Given the description of an element on the screen output the (x, y) to click on. 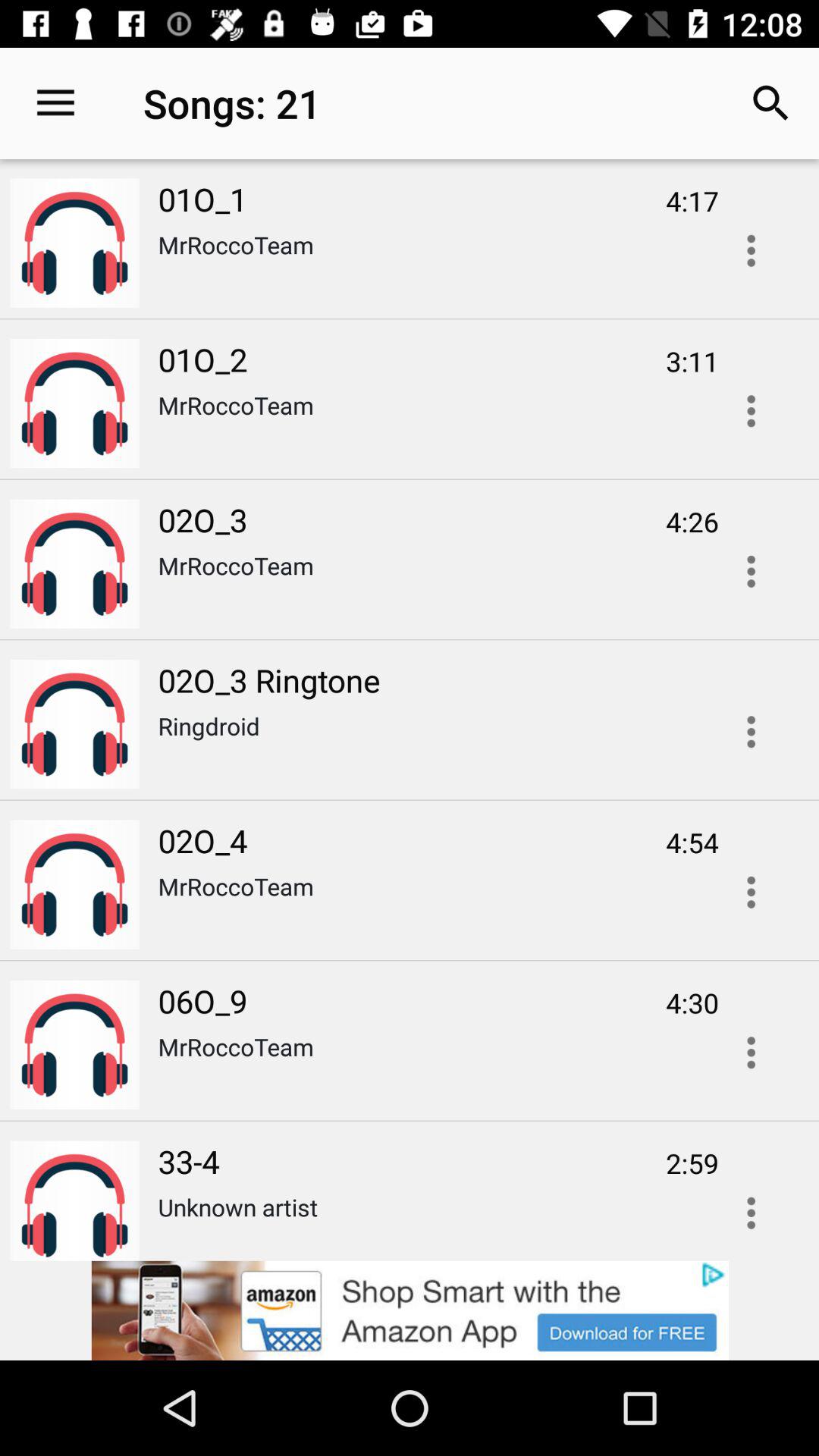
open the side menu (750, 250)
